Given the description of an element on the screen output the (x, y) to click on. 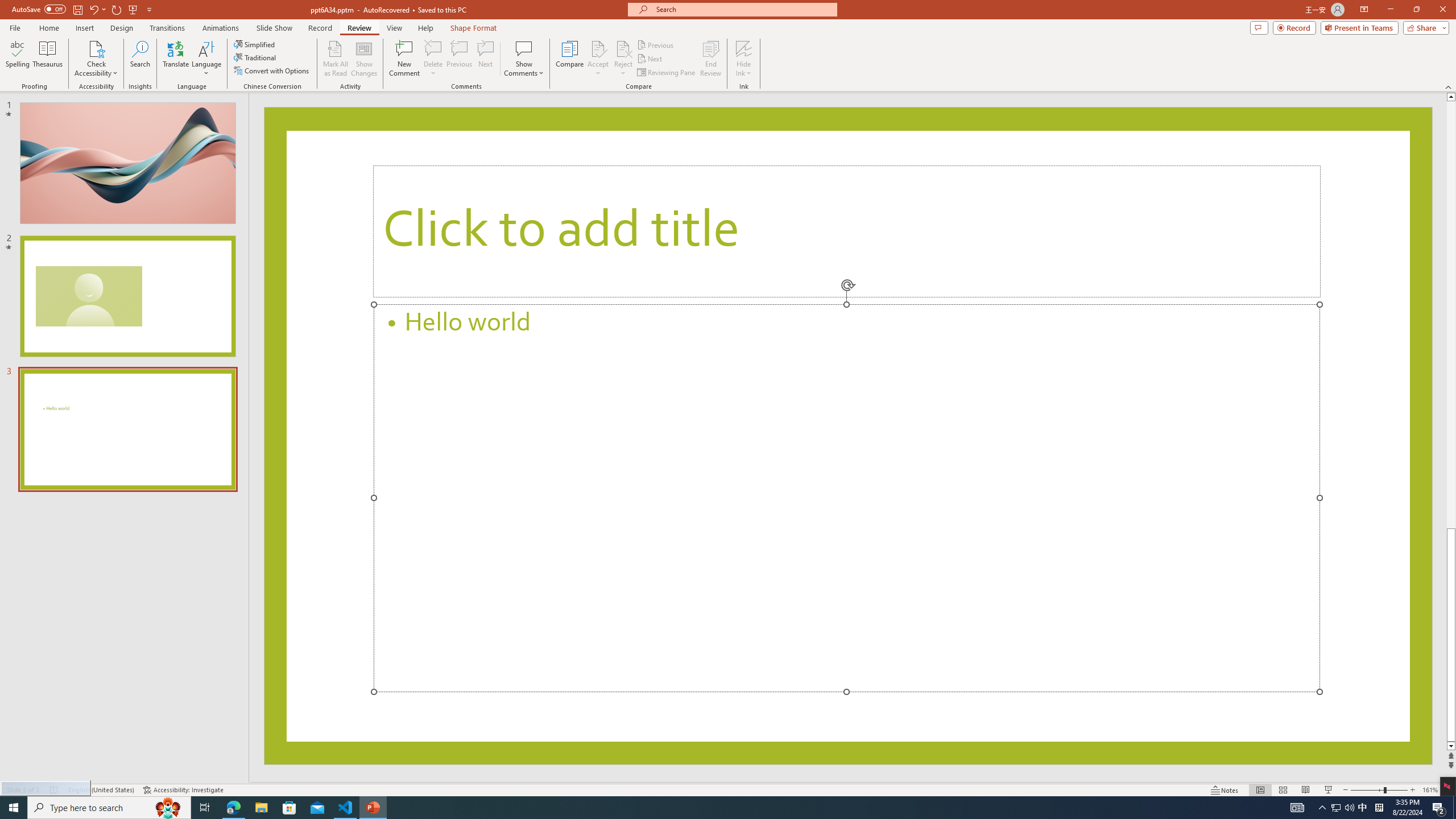
Show Changes (363, 58)
Accessibility Checker Accessibility: Investigate (183, 790)
Reviewing Pane (666, 72)
Accept Change (598, 48)
